Given the description of an element on the screen output the (x, y) to click on. 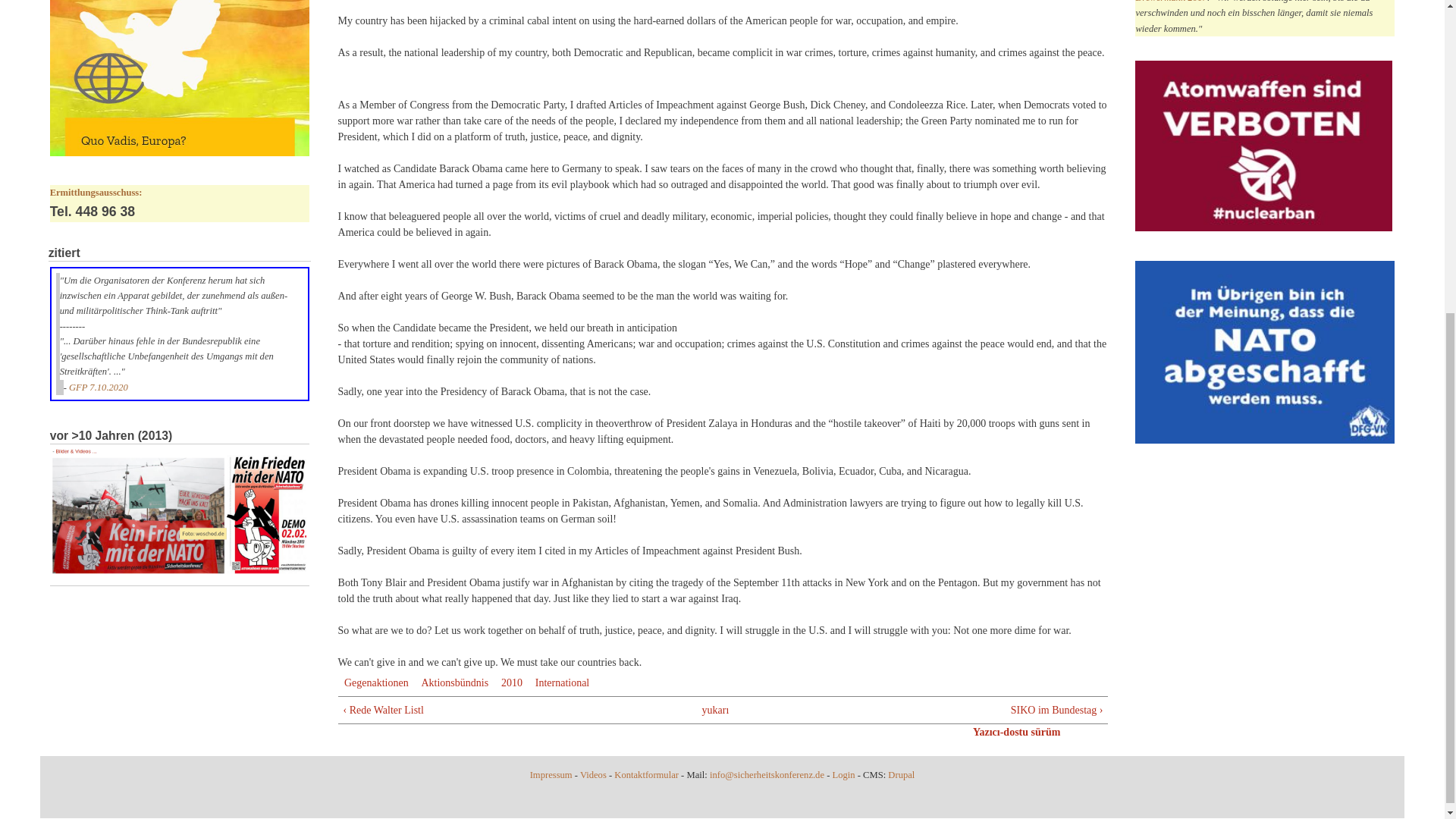
Gegenaktionen (376, 682)
Sonraki sayfaya git (943, 709)
International (562, 682)
Click f. PDF-Download 40k (1264, 352)
Atomwaffenverbotsvertrag in Kraft (1263, 145)
Ermittlungsausschuss: (95, 192)
GFP 7.10.2020 (98, 387)
Drewermann 2017 (1171, 1)
2010 (511, 682)
